Given the description of an element on the screen output the (x, y) to click on. 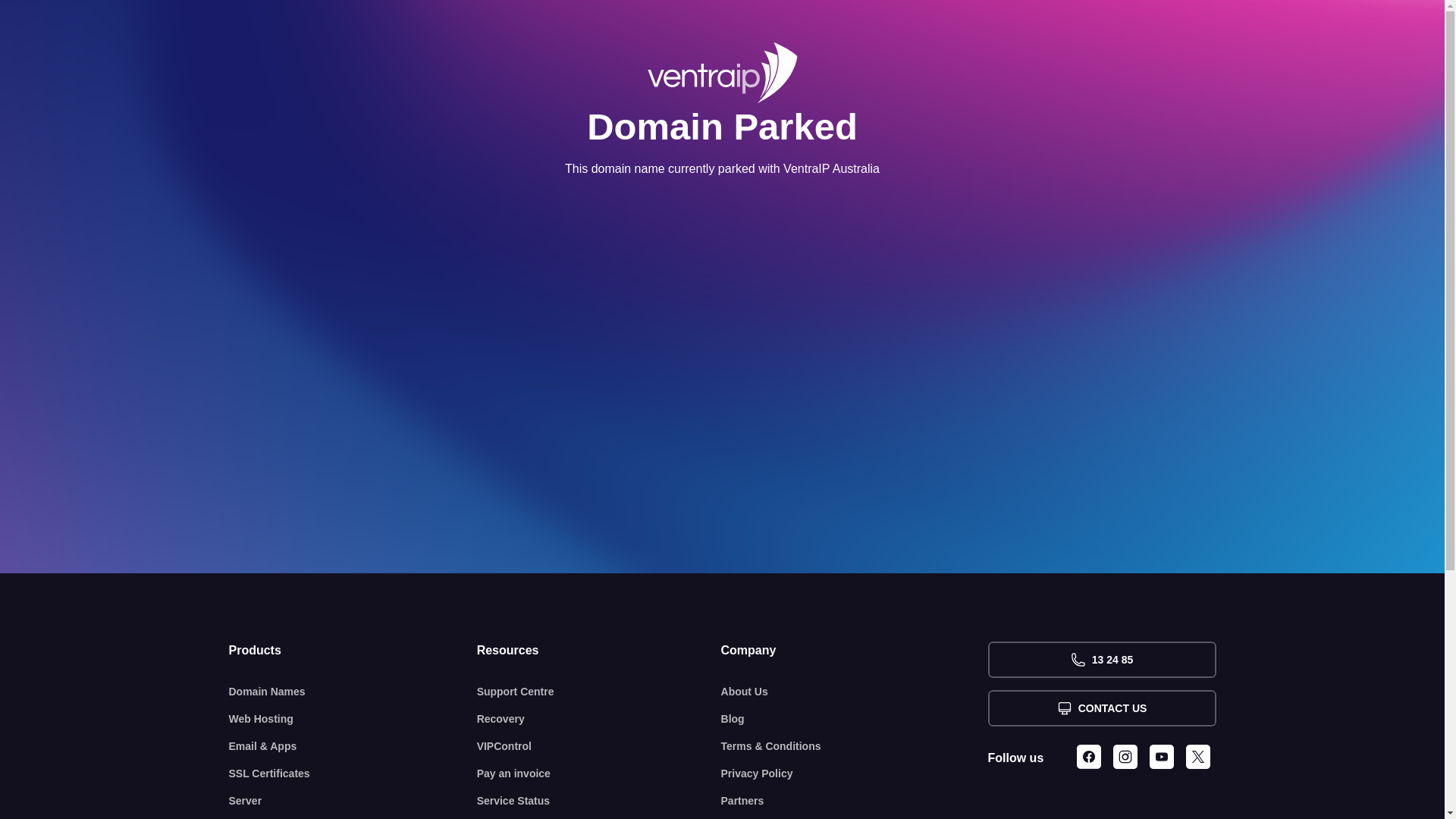
VIPControl Element type: text (598, 745)
Privacy Policy Element type: text (854, 773)
Terms & Conditions Element type: text (854, 745)
Partners Element type: text (854, 800)
About Us Element type: text (854, 691)
Web Hosting Element type: text (352, 718)
Recovery Element type: text (598, 718)
Domain Names Element type: text (352, 691)
Blog Element type: text (854, 718)
CONTACT US Element type: text (1101, 708)
Service Status Element type: text (598, 800)
13 24 85 Element type: text (1101, 659)
Server Element type: text (352, 800)
Pay an invoice Element type: text (598, 773)
SSL Certificates Element type: text (352, 773)
Support Centre Element type: text (598, 691)
Email & Apps Element type: text (352, 745)
